Given the description of an element on the screen output the (x, y) to click on. 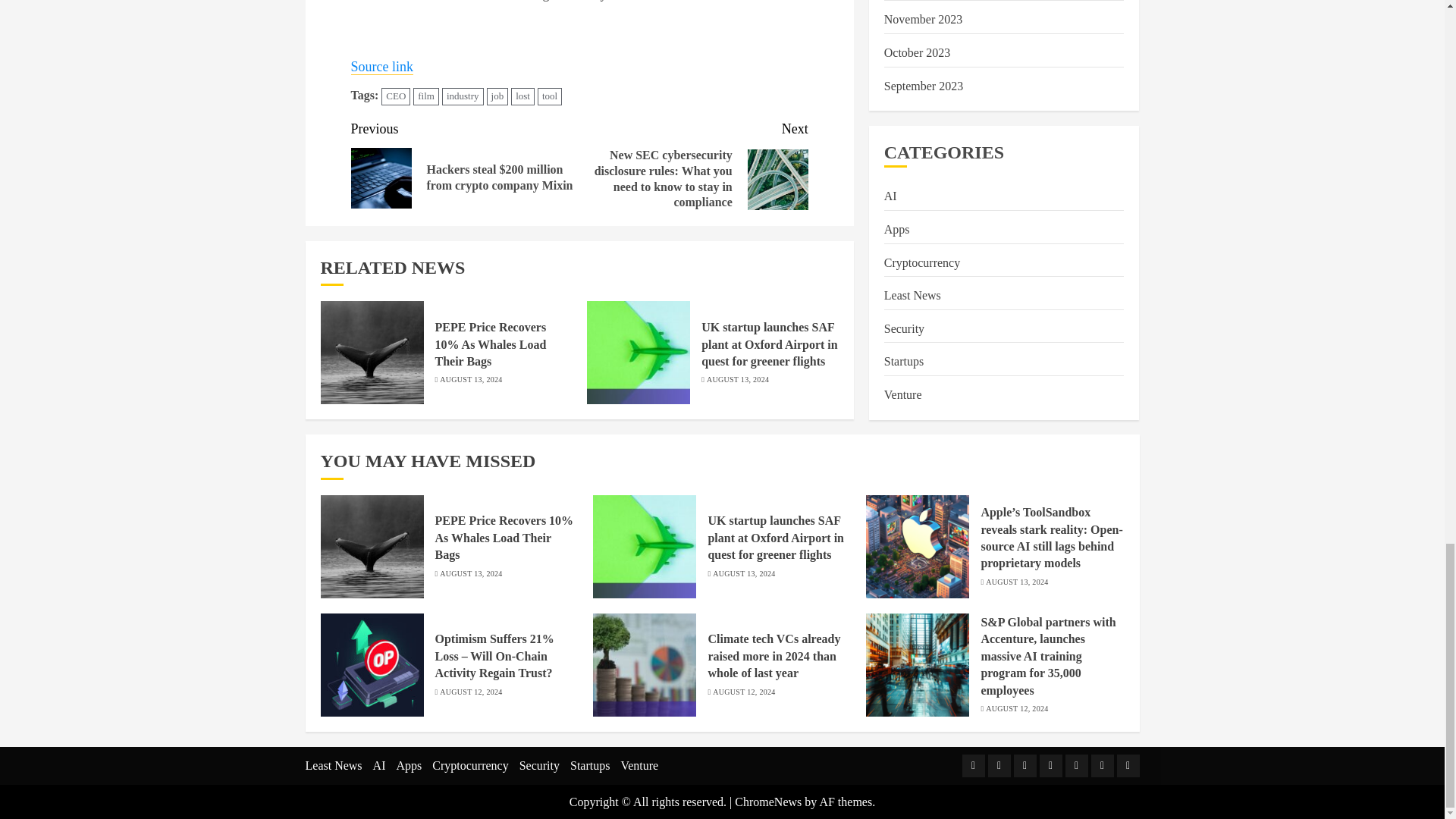
job (497, 96)
CEO (395, 96)
industry (462, 96)
Source link (381, 66)
film (426, 96)
